Given the description of an element on the screen output the (x, y) to click on. 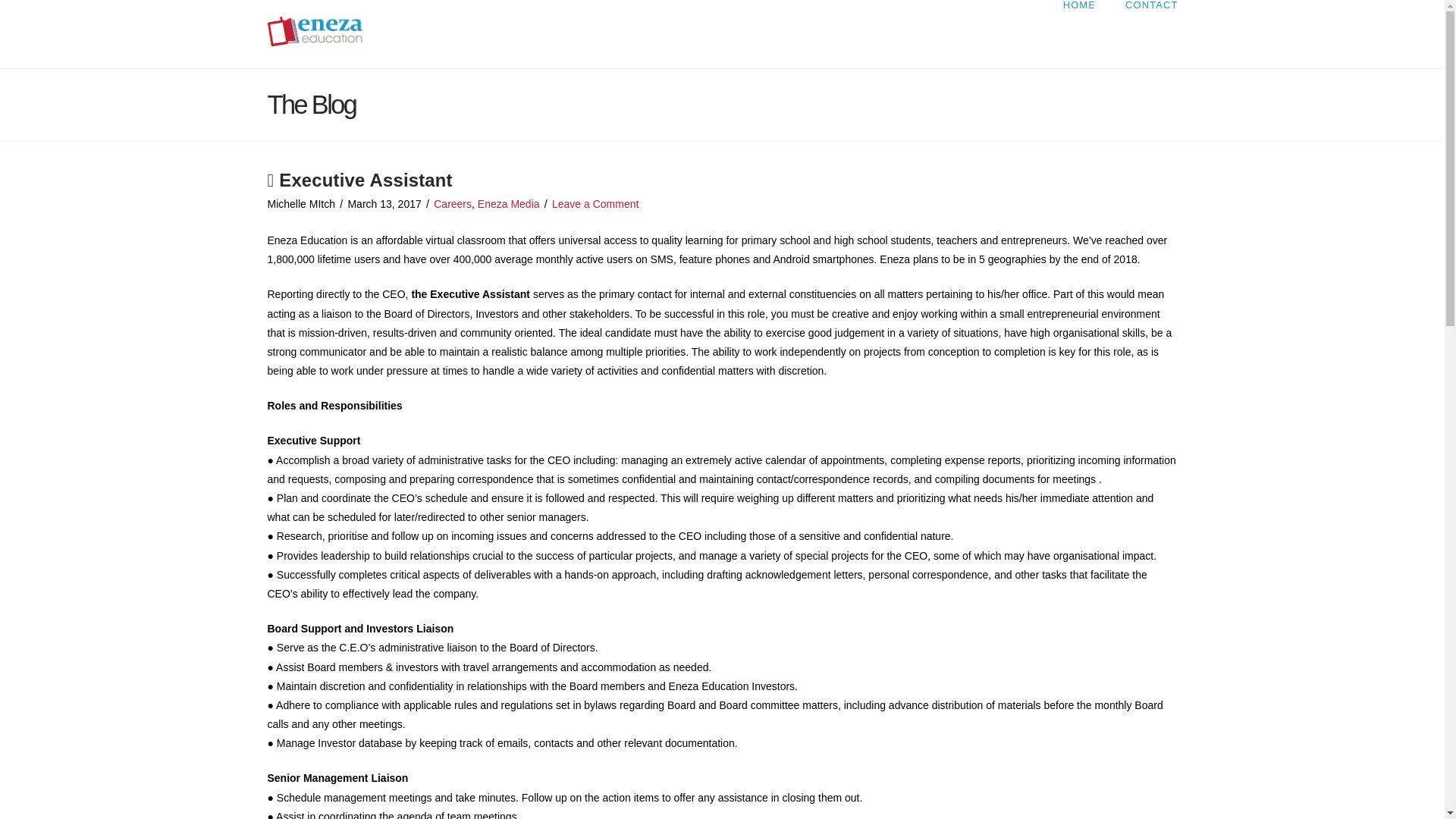
Eneza Media (508, 203)
HOME (1078, 33)
Leave a Comment (595, 203)
Careers (452, 203)
CONTACT (1143, 33)
